Given the description of an element on the screen output the (x, y) to click on. 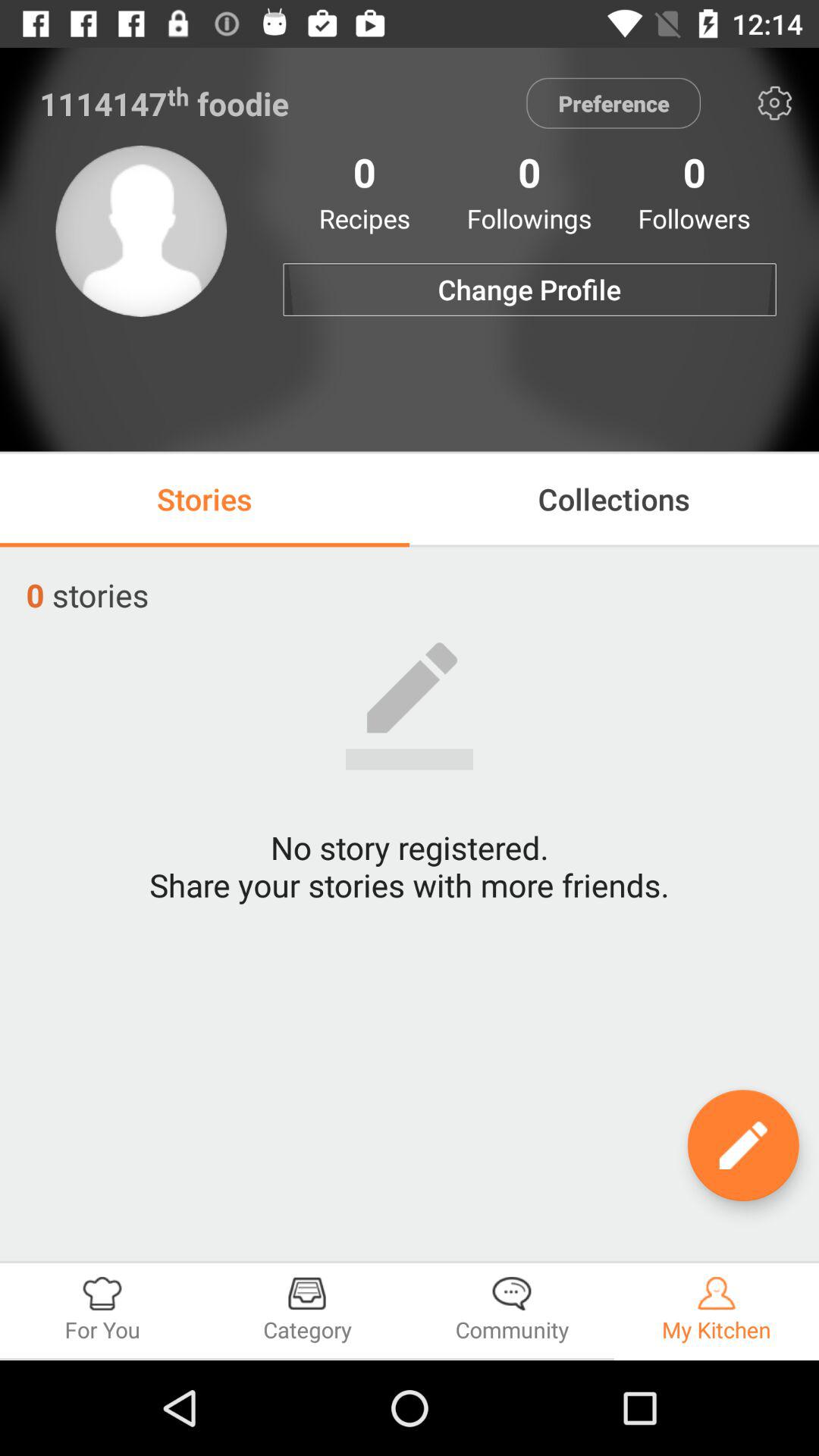
press icon next to the change profile icon (140, 230)
